Given the description of an element on the screen output the (x, y) to click on. 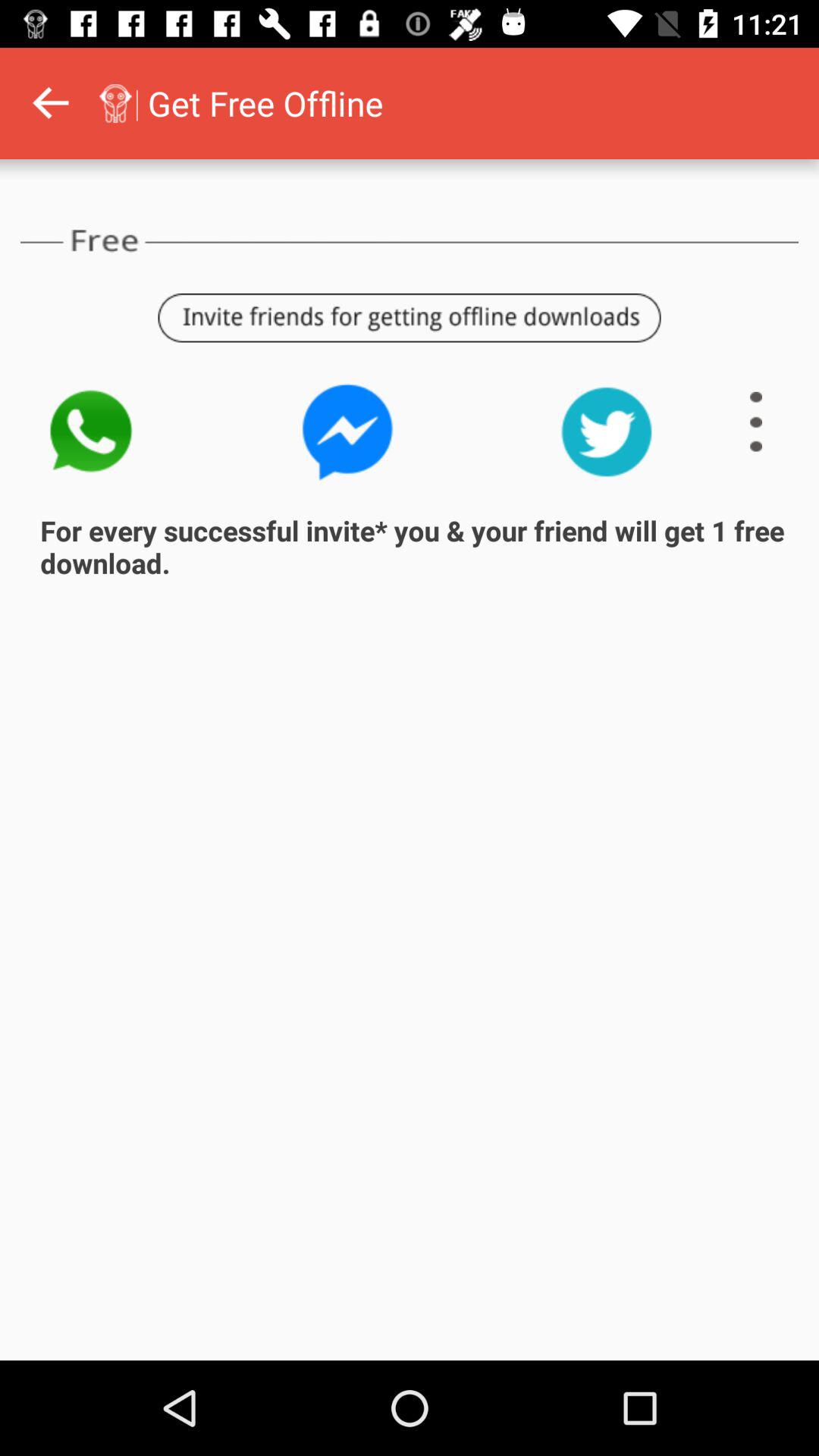
call (89, 431)
